Given the description of an element on the screen output the (x, y) to click on. 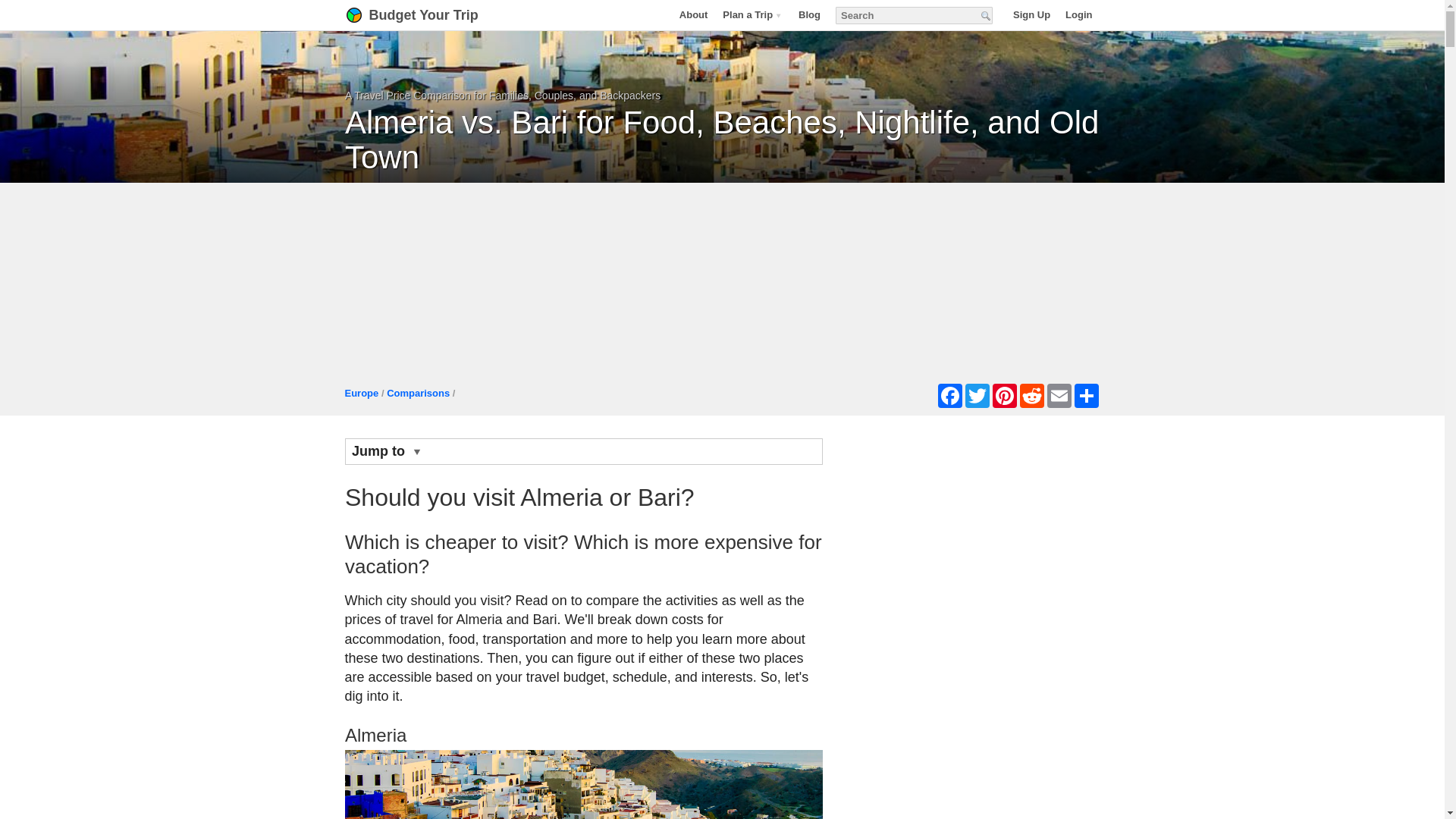
Plan a Trip (752, 14)
Pinterest (1003, 395)
About (693, 14)
Login (1078, 14)
Email (1058, 395)
Blog (809, 14)
Budget Your Trip (431, 14)
Twitter (976, 395)
Sign Up (1031, 14)
Comparisons (418, 392)
Reddit (1031, 395)
Europe (360, 392)
Facebook (949, 395)
